Given the description of an element on the screen output the (x, y) to click on. 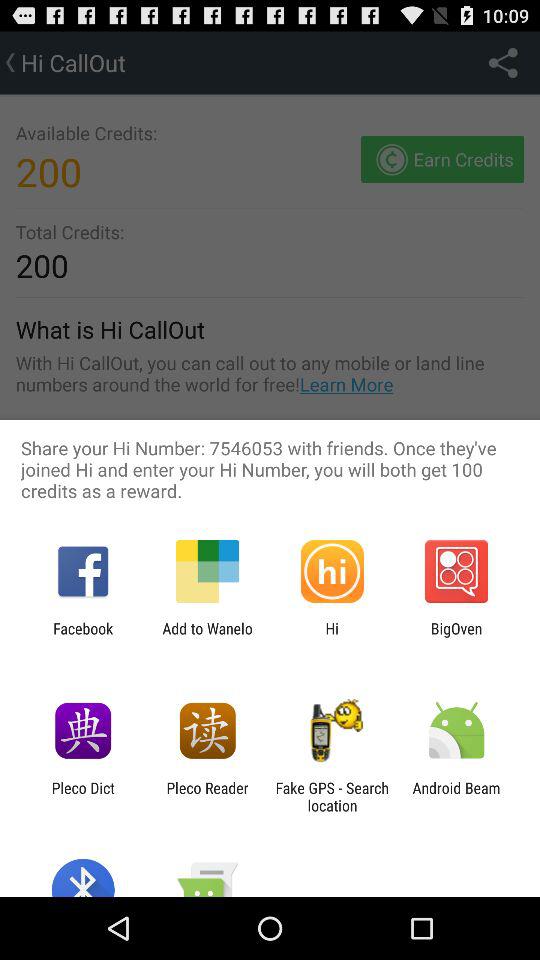
choose icon next to the android beam (332, 796)
